Given the description of an element on the screen output the (x, y) to click on. 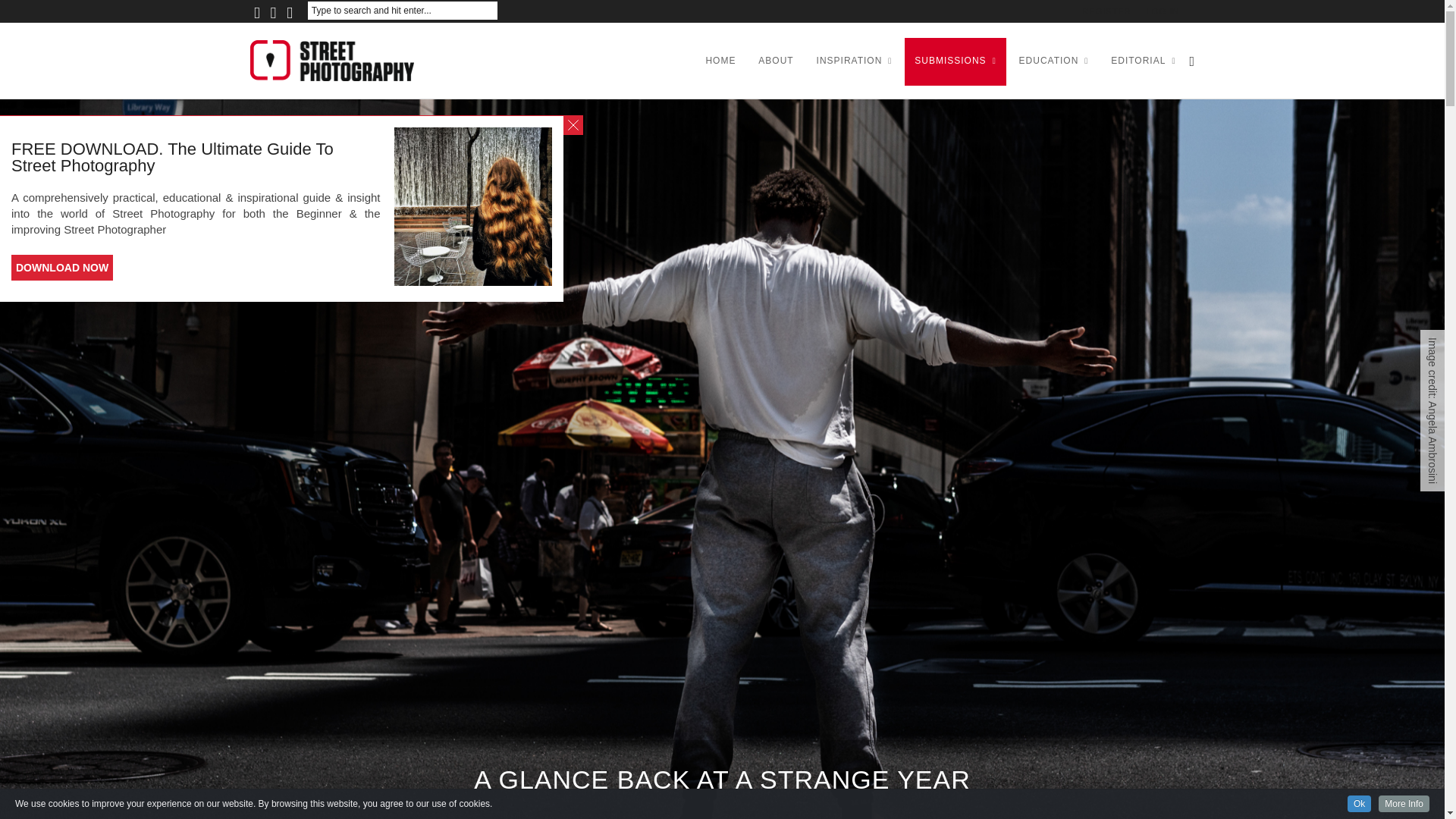
INSPIRATION (854, 60)
ABOUT (775, 60)
HOME (720, 60)
LOG IN (1163, 10)
REGISTER (1106, 10)
SUBMISSIONS (955, 60)
